Given the description of an element on the screen output the (x, y) to click on. 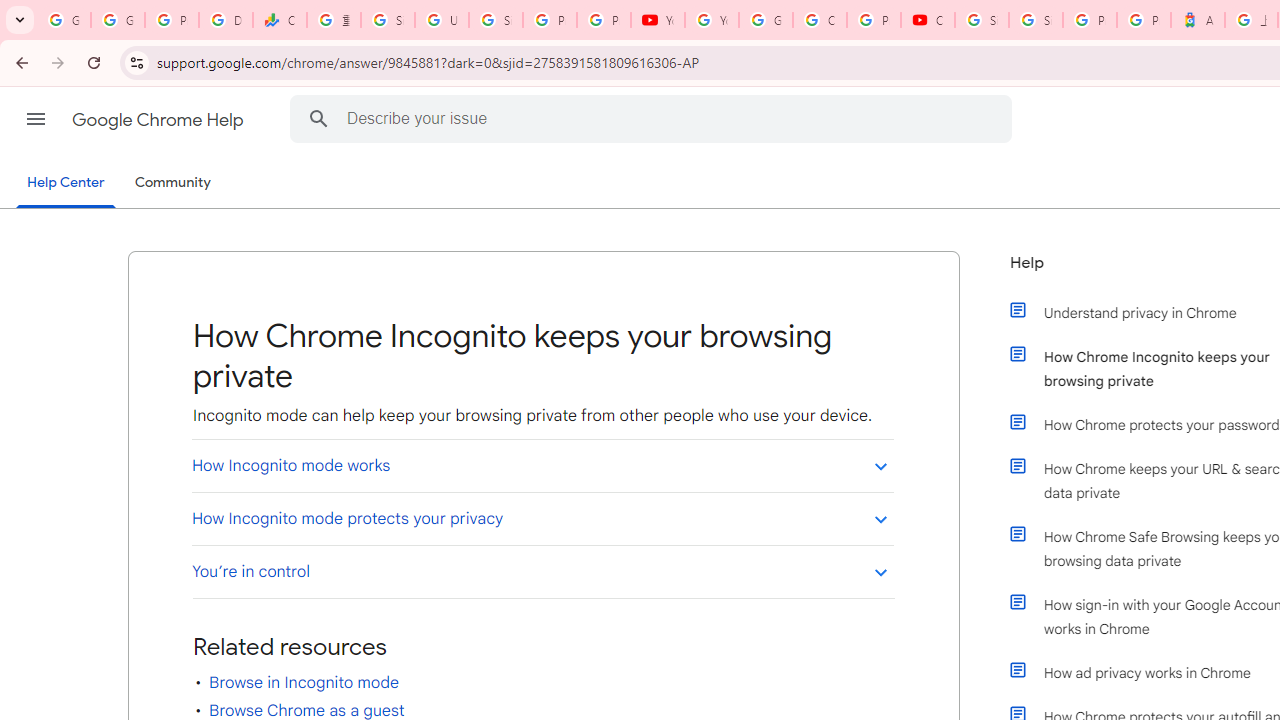
How Incognito mode works (542, 465)
How Incognito mode protects your privacy (542, 518)
Sign in - Google Accounts (1035, 20)
Sign in - Google Accounts (495, 20)
Community (171, 183)
Sign in - Google Accounts (981, 20)
Atour Hotel - Google hotels (1197, 20)
Google Chrome Help (159, 119)
